Given the description of an element on the screen output the (x, y) to click on. 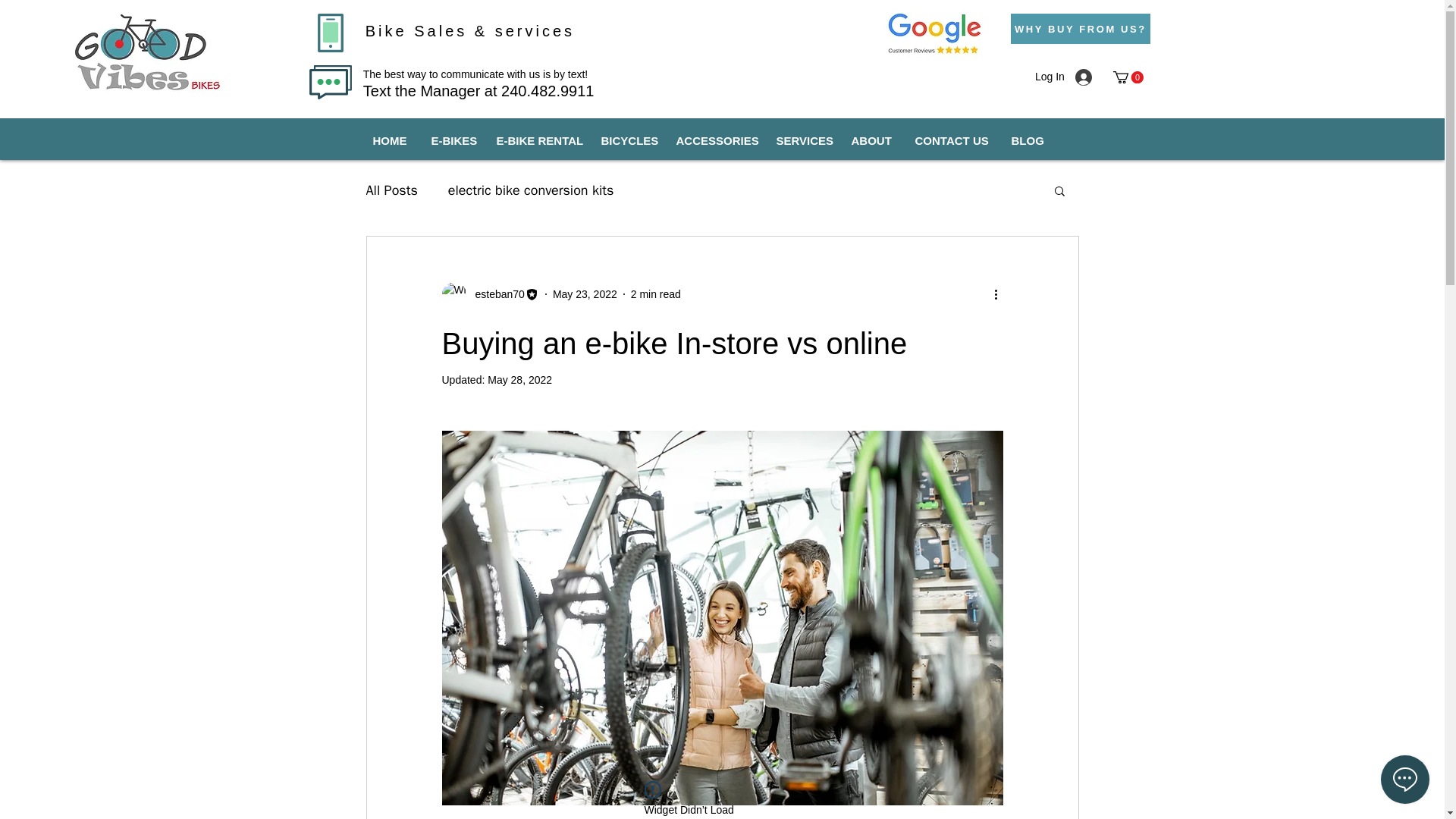
ABOUT (872, 140)
HOME (390, 140)
May 28, 2022 (519, 379)
0 (1127, 77)
May 23, 2022 (585, 294)
WHY BUY FROM US? (1080, 28)
0 (1127, 77)
Log In (1080, 76)
2 min read (655, 294)
BICYCLES (627, 140)
esteban70 (494, 294)
E-BIKE RENTAL (536, 140)
logo (143, 52)
